Given the description of an element on the screen output the (x, y) to click on. 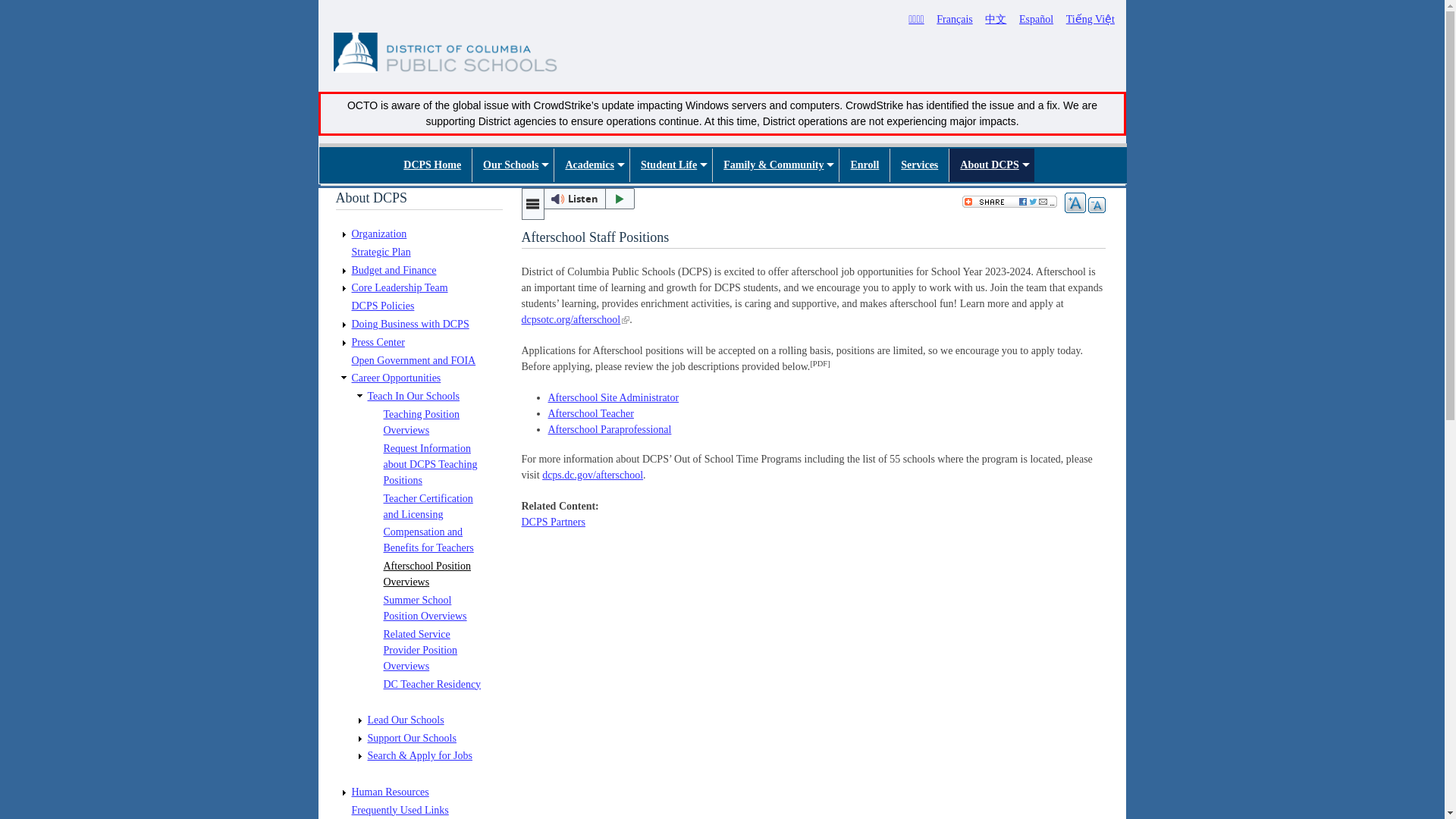
Amharic (915, 19)
